Given the description of an element on the screen output the (x, y) to click on. 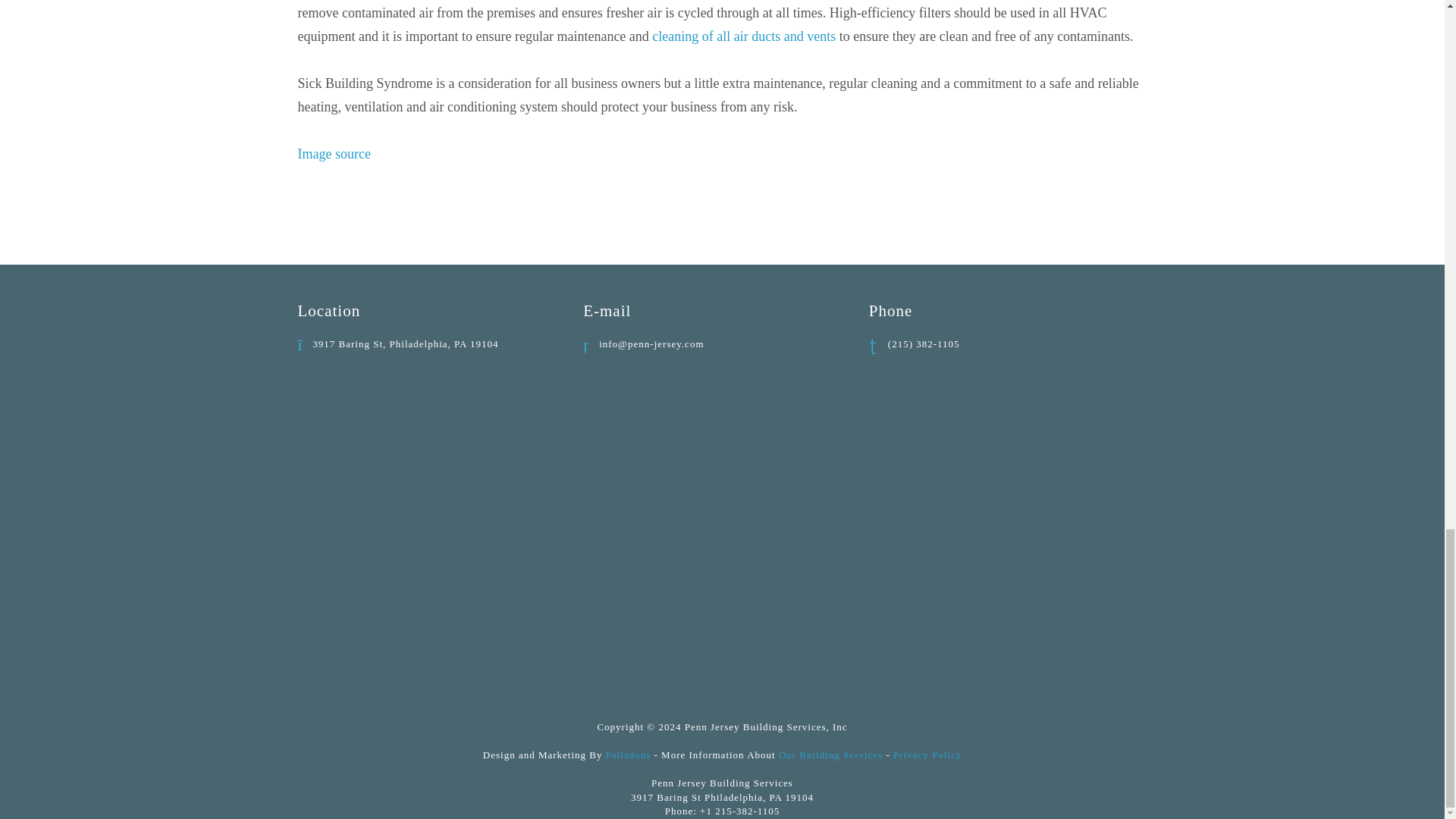
Palladous (627, 754)
Our Building Services (830, 754)
cleaning of all air ducts and vents (743, 36)
Privacy Policy (926, 754)
Image source (333, 153)
